Given the description of an element on the screen output the (x, y) to click on. 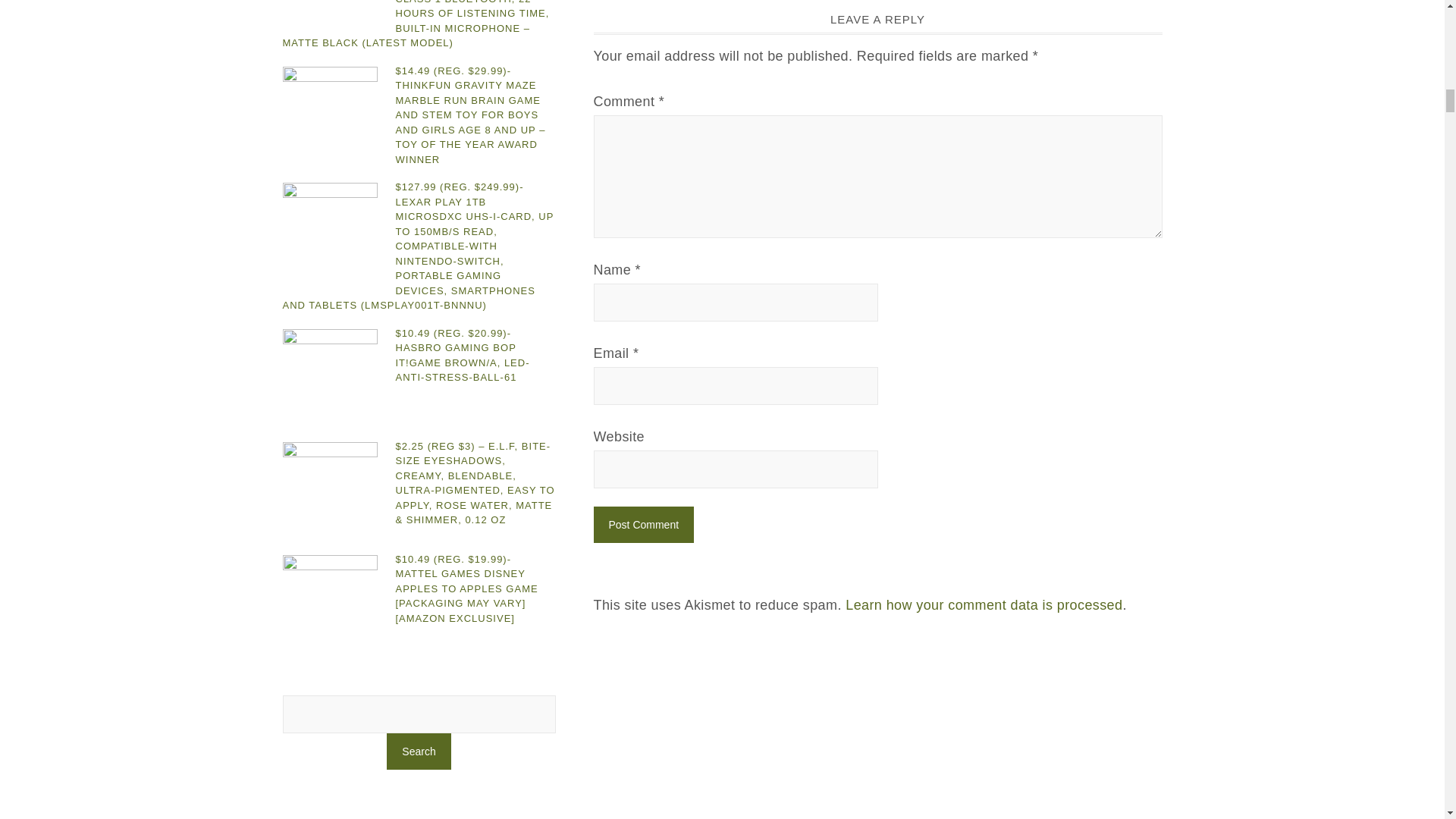
Search (418, 751)
Post Comment (643, 524)
